Given the description of an element on the screen output the (x, y) to click on. 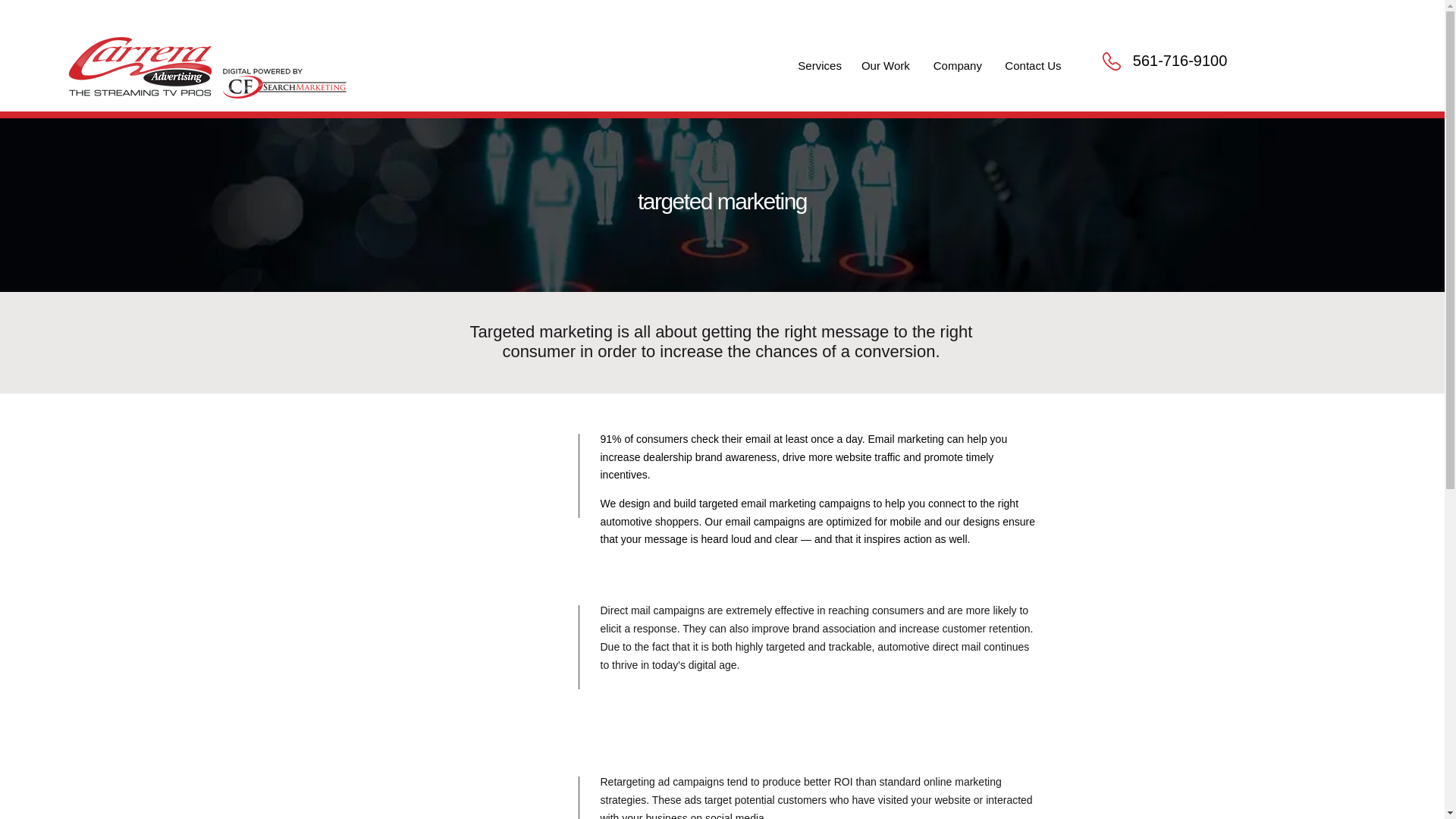
Services (817, 65)
Powered-CF.png (283, 69)
561-716-9100 (1179, 60)
Contact Us (1031, 65)
Our Work (884, 65)
